Given the description of an element on the screen output the (x, y) to click on. 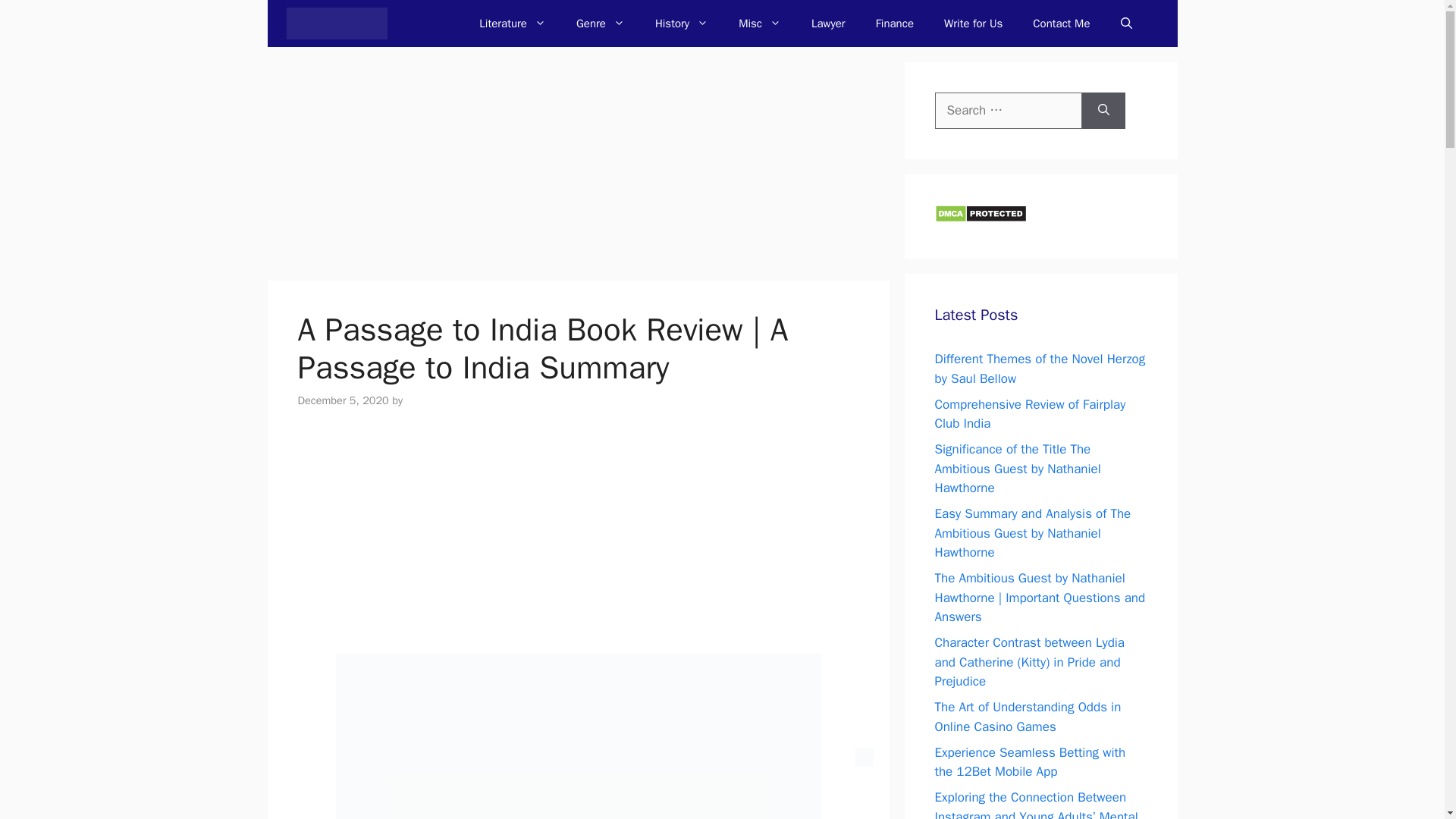
Lawyer (828, 22)
Advertisement (578, 540)
All About English Literature (336, 23)
History (681, 22)
Misc (759, 22)
Contact Me (1061, 22)
Advertisement (577, 168)
Write for Us (972, 22)
Finance (894, 22)
